Given the description of an element on the screen output the (x, y) to click on. 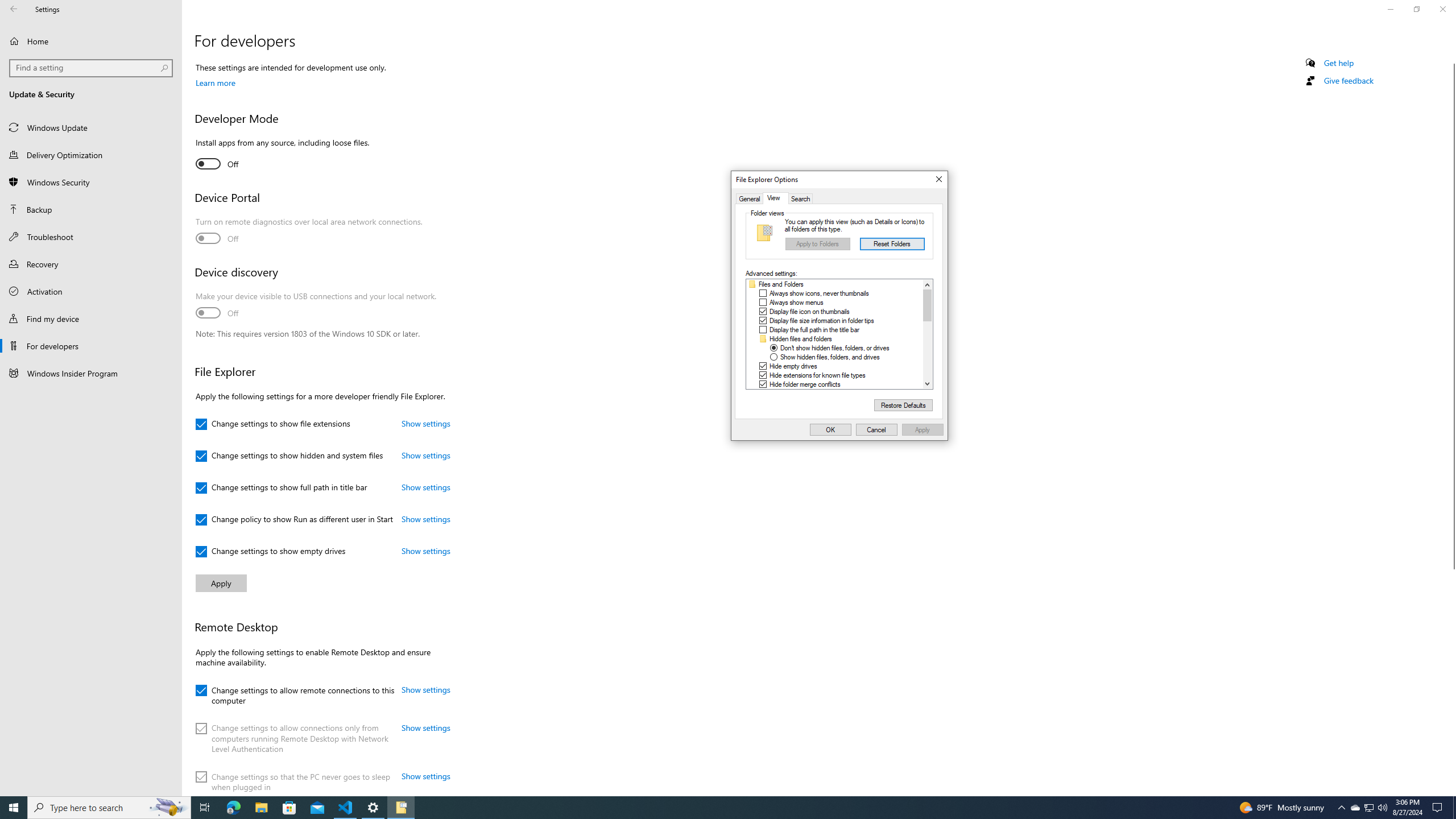
Action Center, No new notifications (1439, 807)
Page down (927, 349)
Hidden files and folders (800, 338)
Microsoft Edge (233, 807)
Line up (1355, 807)
Start (927, 284)
Display file size information in folder tips (13, 807)
Show hidden files, folders, and drives (821, 320)
Visual Studio Code - 1 running window (829, 356)
Task View (345, 807)
Display the full path in the title bar (204, 807)
View (814, 329)
File Explorer Options - 1 running window (775, 198)
Hide folder merge conflicts (400, 807)
